Given the description of an element on the screen output the (x, y) to click on. 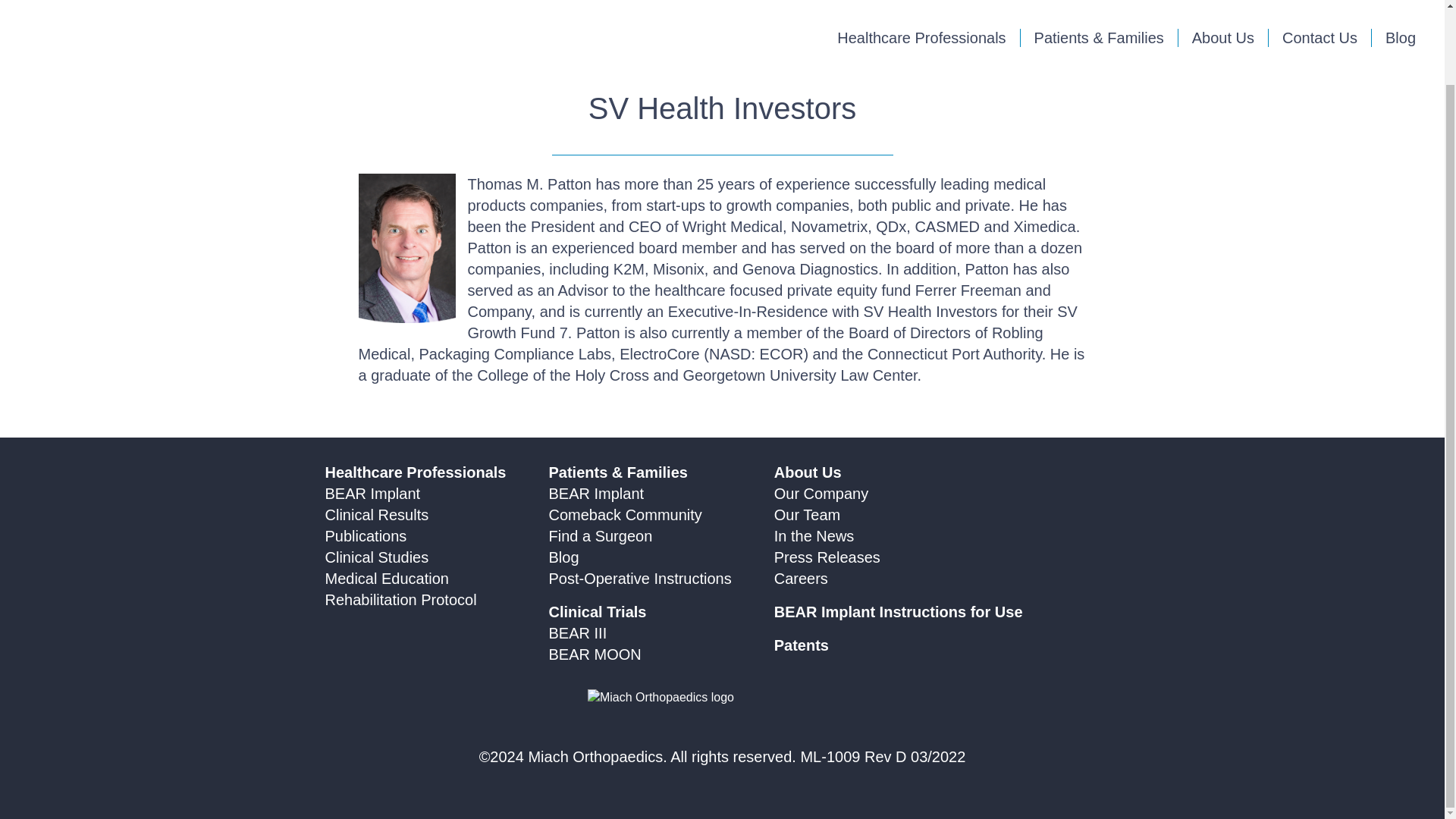
Comeback Community (624, 514)
BEAR Implant (596, 493)
Our Team (807, 514)
In the News (814, 535)
BEAR Implant Instructions for Use (898, 611)
BEAR MOON (595, 654)
Blog (563, 556)
Publications (365, 535)
Clinical Studies (376, 556)
Rehabilitation Protocol (400, 599)
